Given the description of an element on the screen output the (x, y) to click on. 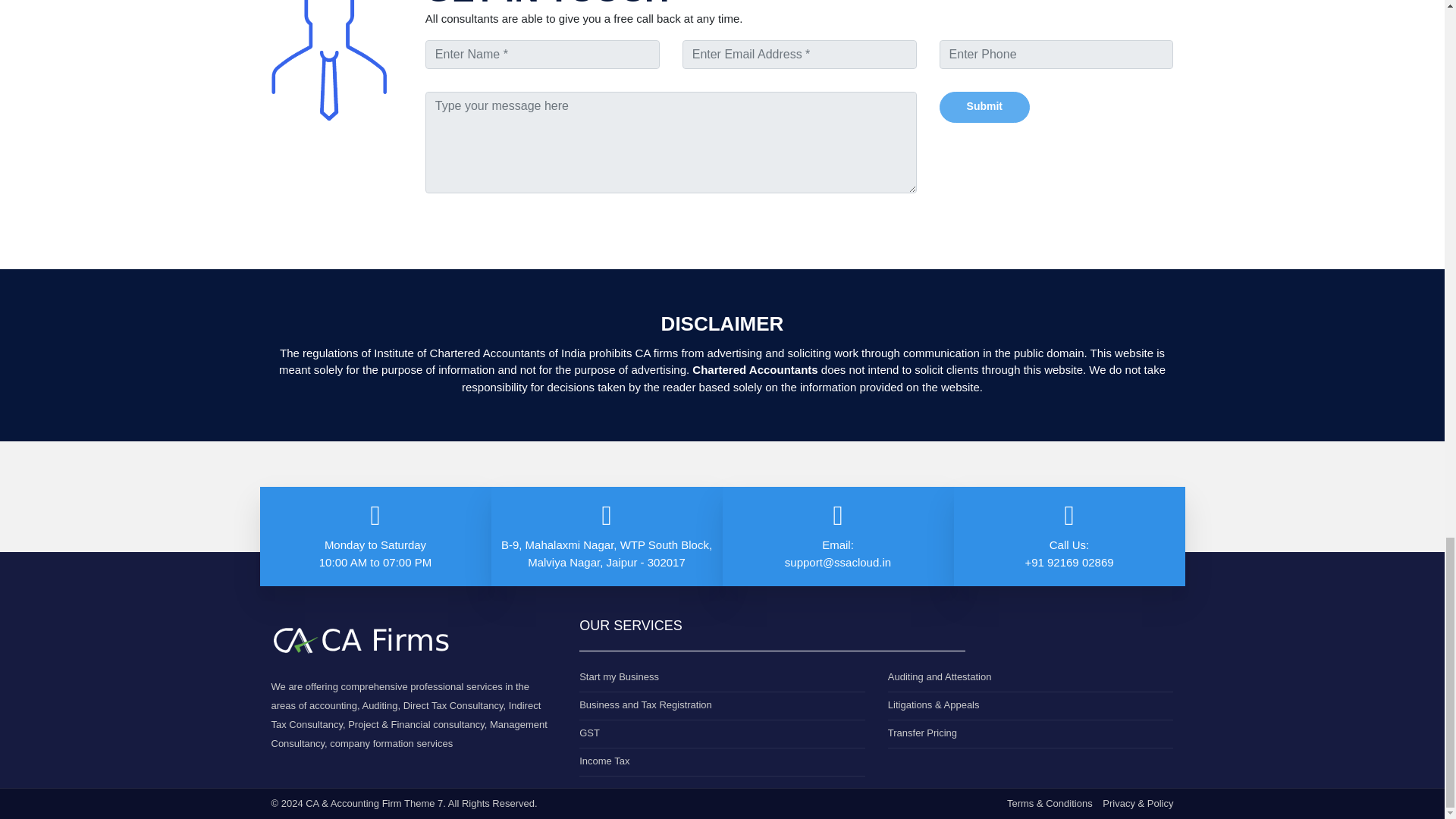
Submit (984, 106)
